Given the description of an element on the screen output the (x, y) to click on. 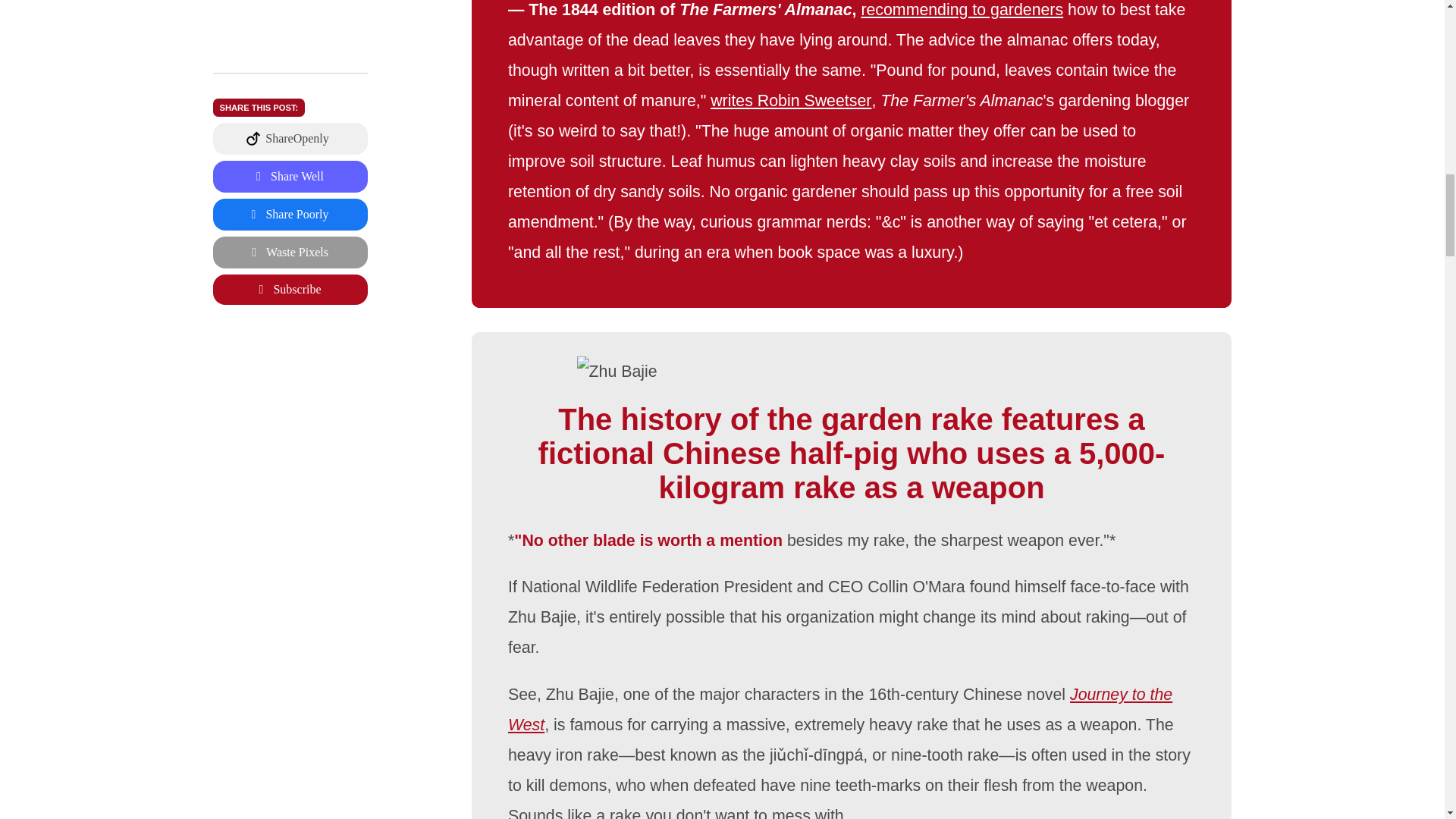
Journey to the West (840, 709)
recommending to gardeners (962, 9)
writes Robin Sweetser (791, 100)
